Given the description of an element on the screen output the (x, y) to click on. 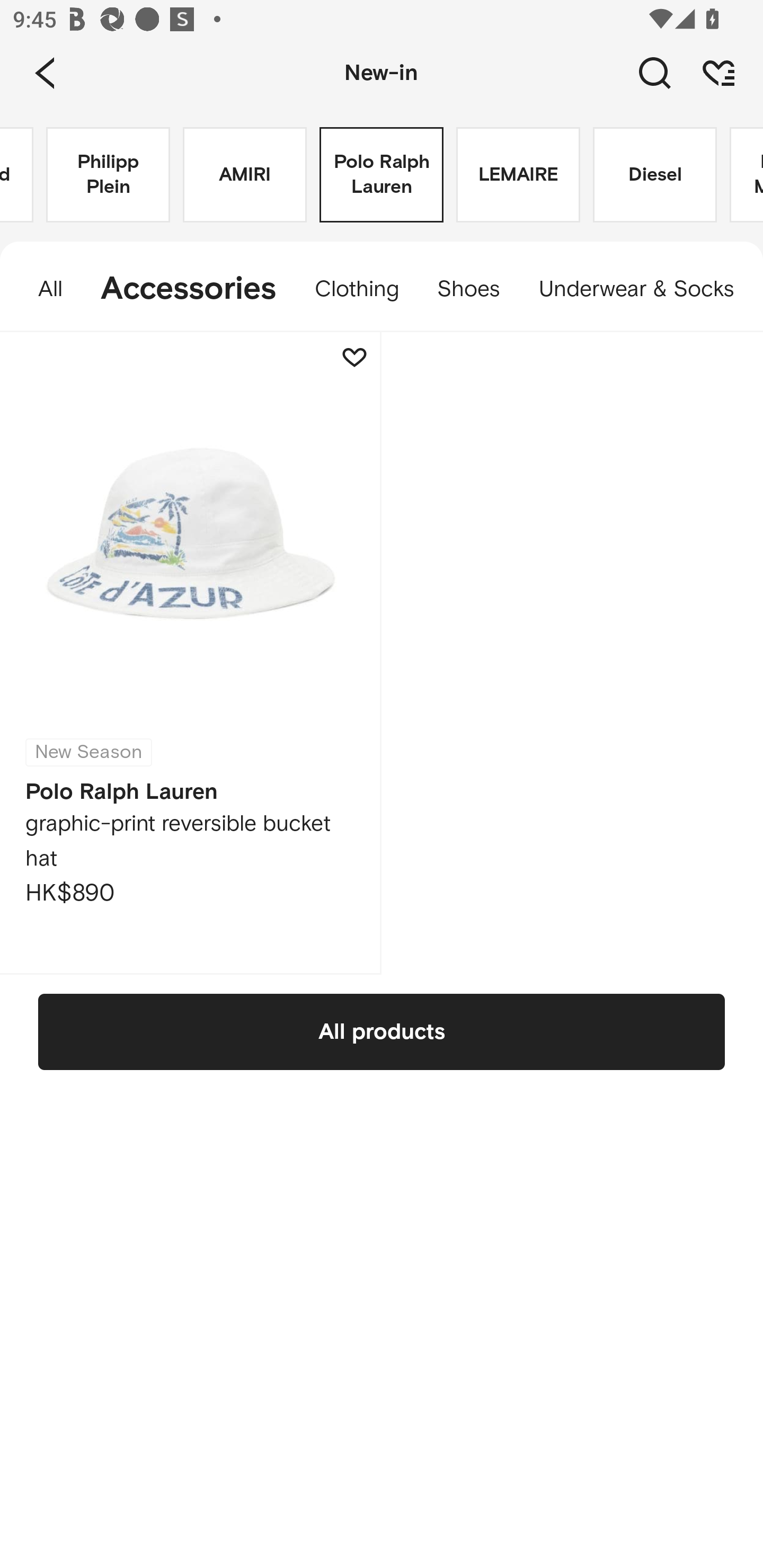
Philipp Plein (107, 174)
AMIRI (244, 174)
Polo Ralph Lauren (381, 174)
LEMAIRE (517, 174)
Diesel (654, 174)
All (40, 289)
Accessories (188, 289)
Clothing (356, 289)
Shoes (468, 289)
Underwear & Socks (641, 289)
All products (381, 1031)
